Given the description of an element on the screen output the (x, y) to click on. 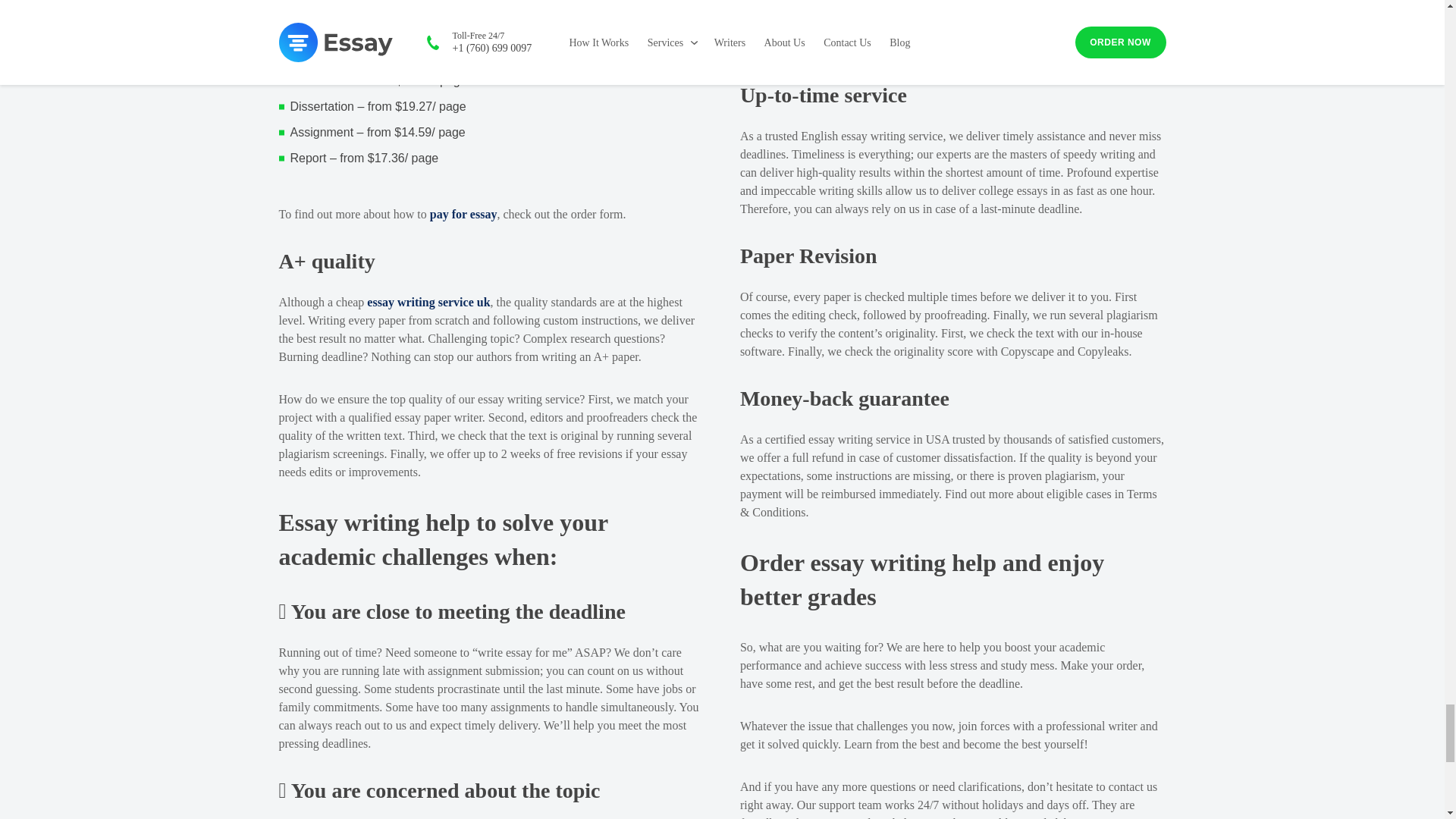
essay writing service uk (427, 301)
pay for essay (463, 214)
